Given the description of an element on the screen output the (x, y) to click on. 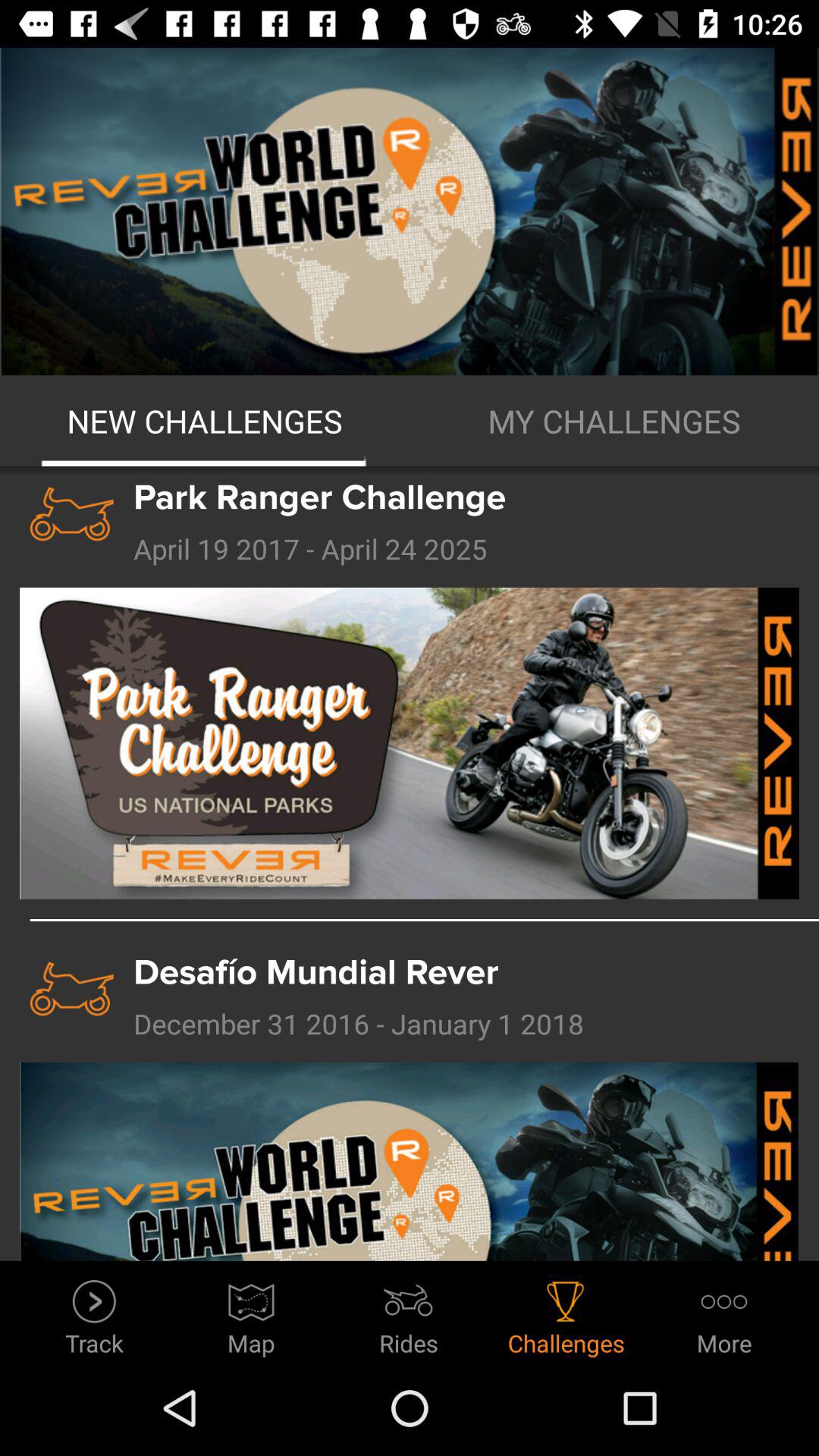
open the item to the right of new challenges icon (614, 420)
